Given the description of an element on the screen output the (x, y) to click on. 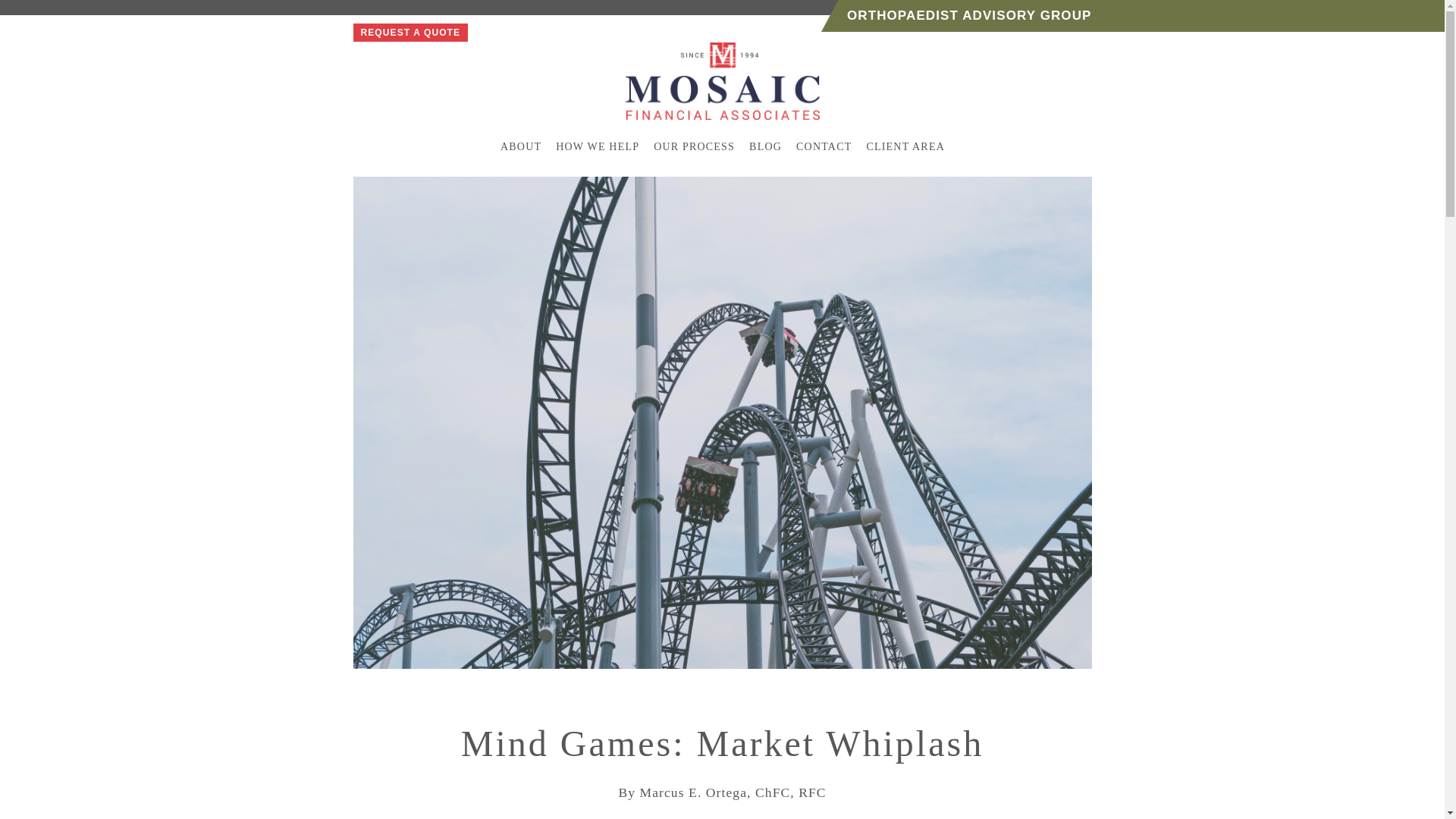
ABOUT (520, 146)
OUR PROCESS (693, 146)
REQUEST A QUOTE (410, 32)
BLOG (764, 146)
CLIENT AREA (904, 146)
ORTHOPAEDIST ADVISORY GROUP (969, 15)
CONTACT (822, 146)
HOW WE HELP (596, 146)
